Given the description of an element on the screen output the (x, y) to click on. 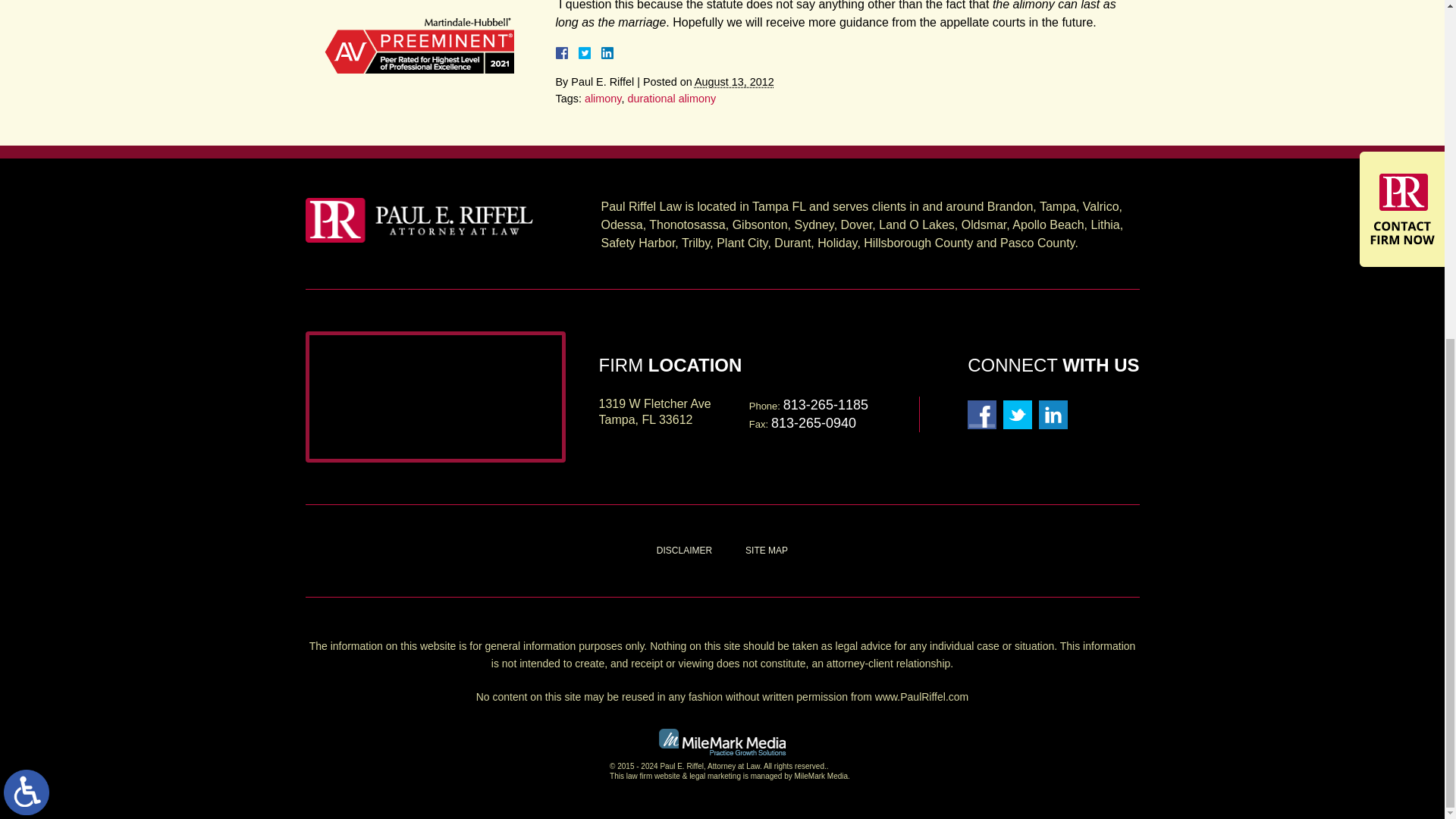
SITE MAP (766, 551)
813-265-1185 (825, 404)
legal marketing (714, 776)
alimony (603, 98)
DISCLAIMER (684, 551)
813-265-0940 (813, 422)
durational alimony (671, 98)
2012-08-13T20:32:03-0700 (734, 81)
Switch to ADA Accessible Theme (26, 218)
